Given the description of an element on the screen output the (x, y) to click on. 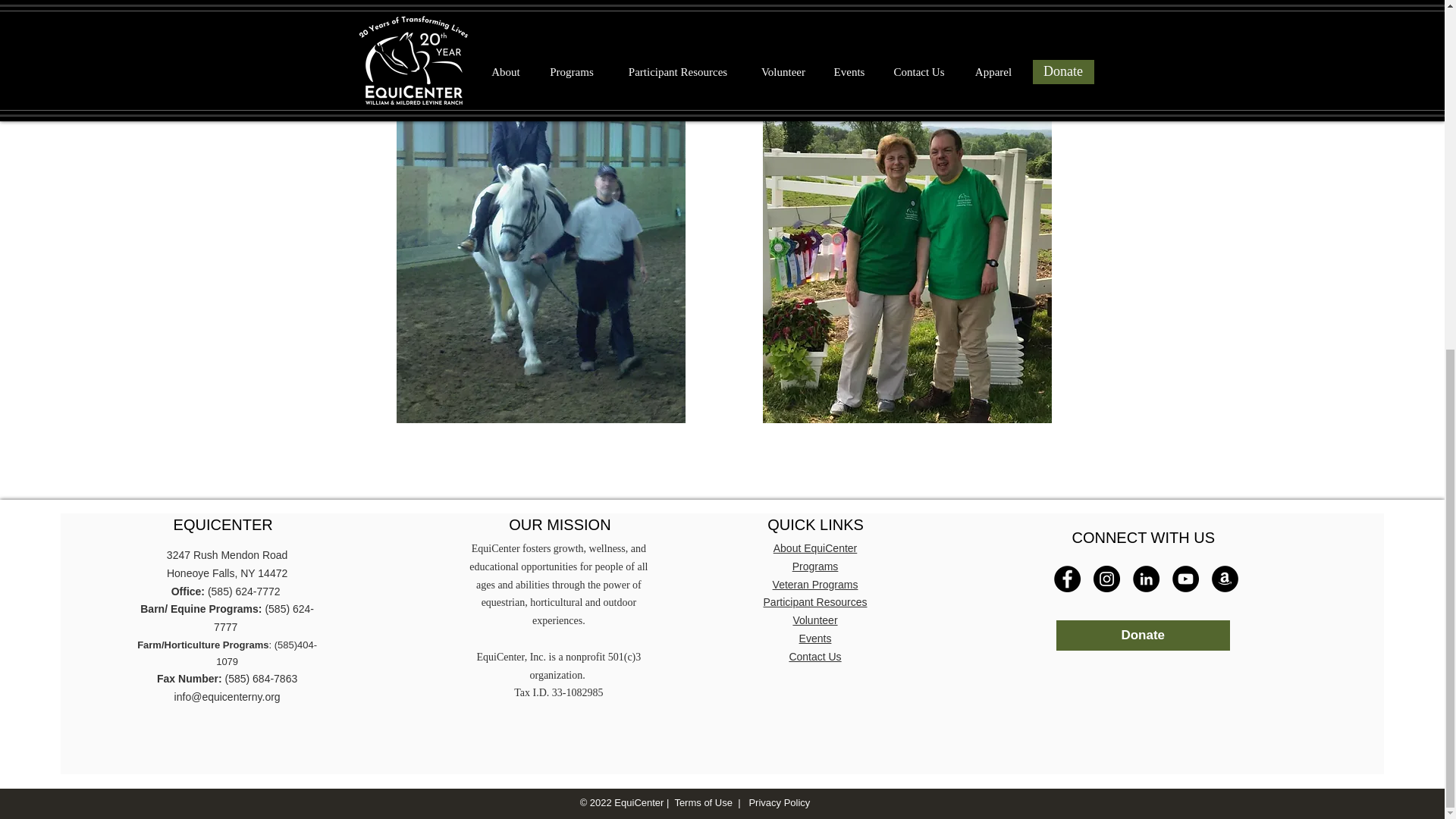
Programs (815, 566)
Volunteer (814, 620)
Participant Resources (814, 602)
Veteran Programs (816, 584)
About EquiCenter (815, 548)
